Given the description of an element on the screen output the (x, y) to click on. 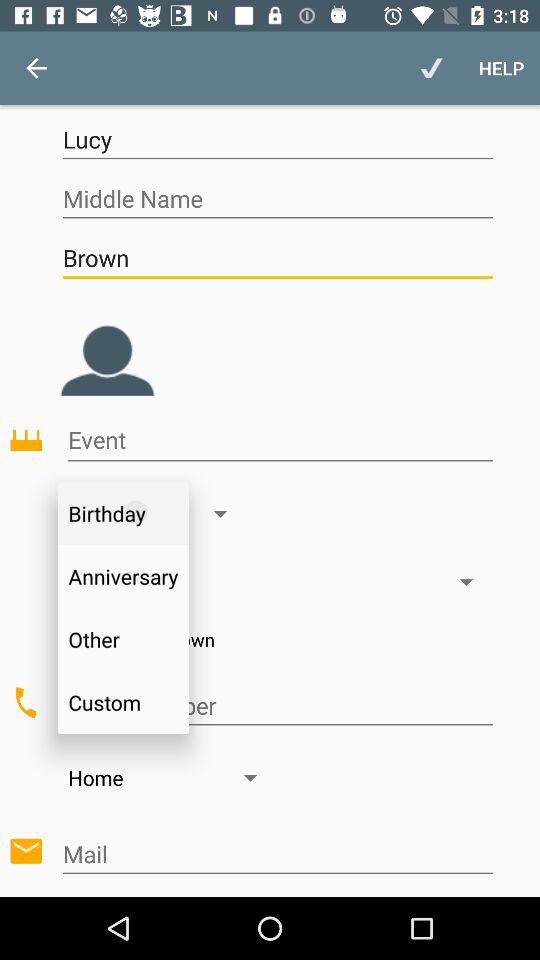
click on custom to add various types of events (277, 705)
